Given the description of an element on the screen output the (x, y) to click on. 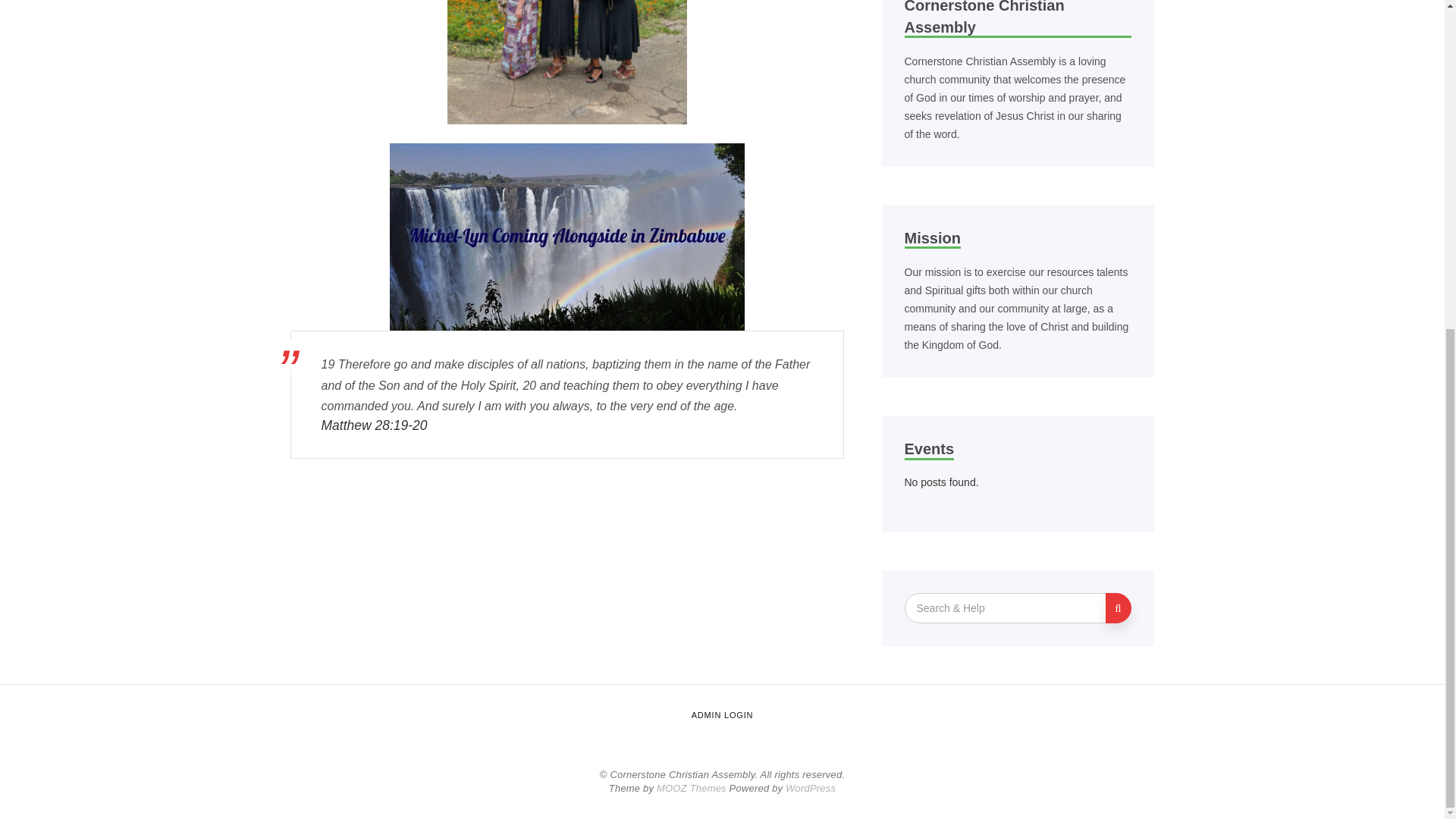
Search for: (1005, 607)
ADMIN LOGIN (722, 714)
MOOZ Themes (691, 787)
WordPress (810, 787)
